Given the description of an element on the screen output the (x, y) to click on. 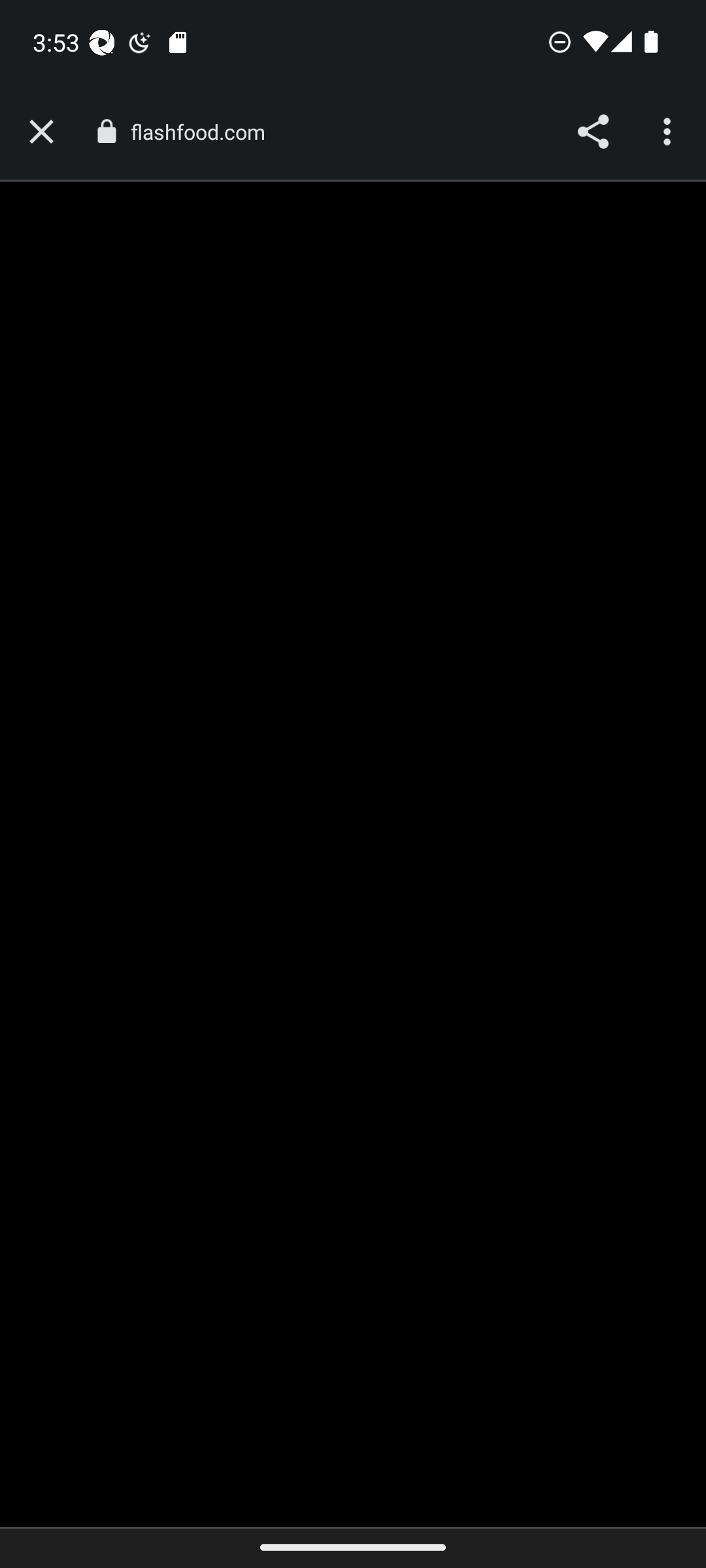
Close tab (41, 131)
Share (592, 131)
More options (669, 131)
Connection is secure (106, 131)
flashfood.com (204, 131)
